Given the description of an element on the screen output the (x, y) to click on. 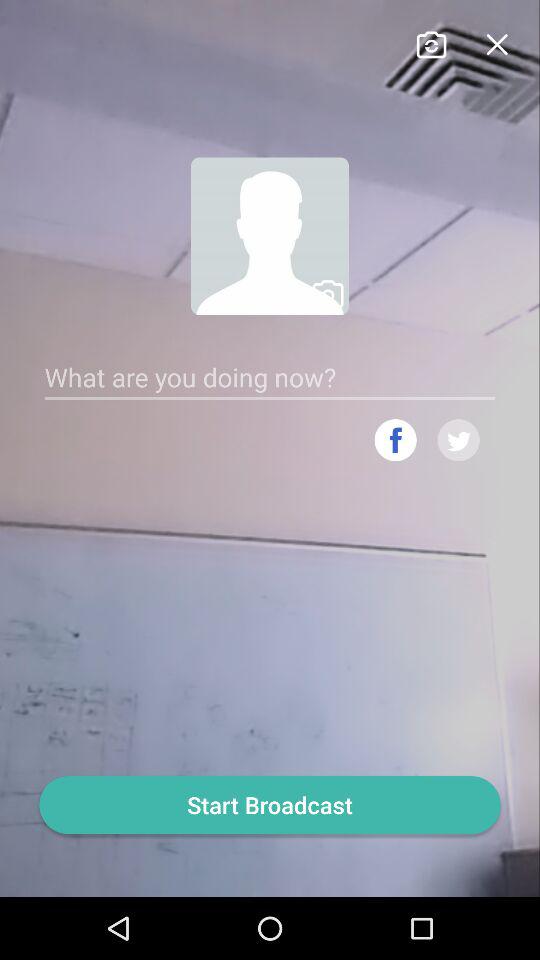
share to twitter (458, 440)
